Given the description of an element on the screen output the (x, y) to click on. 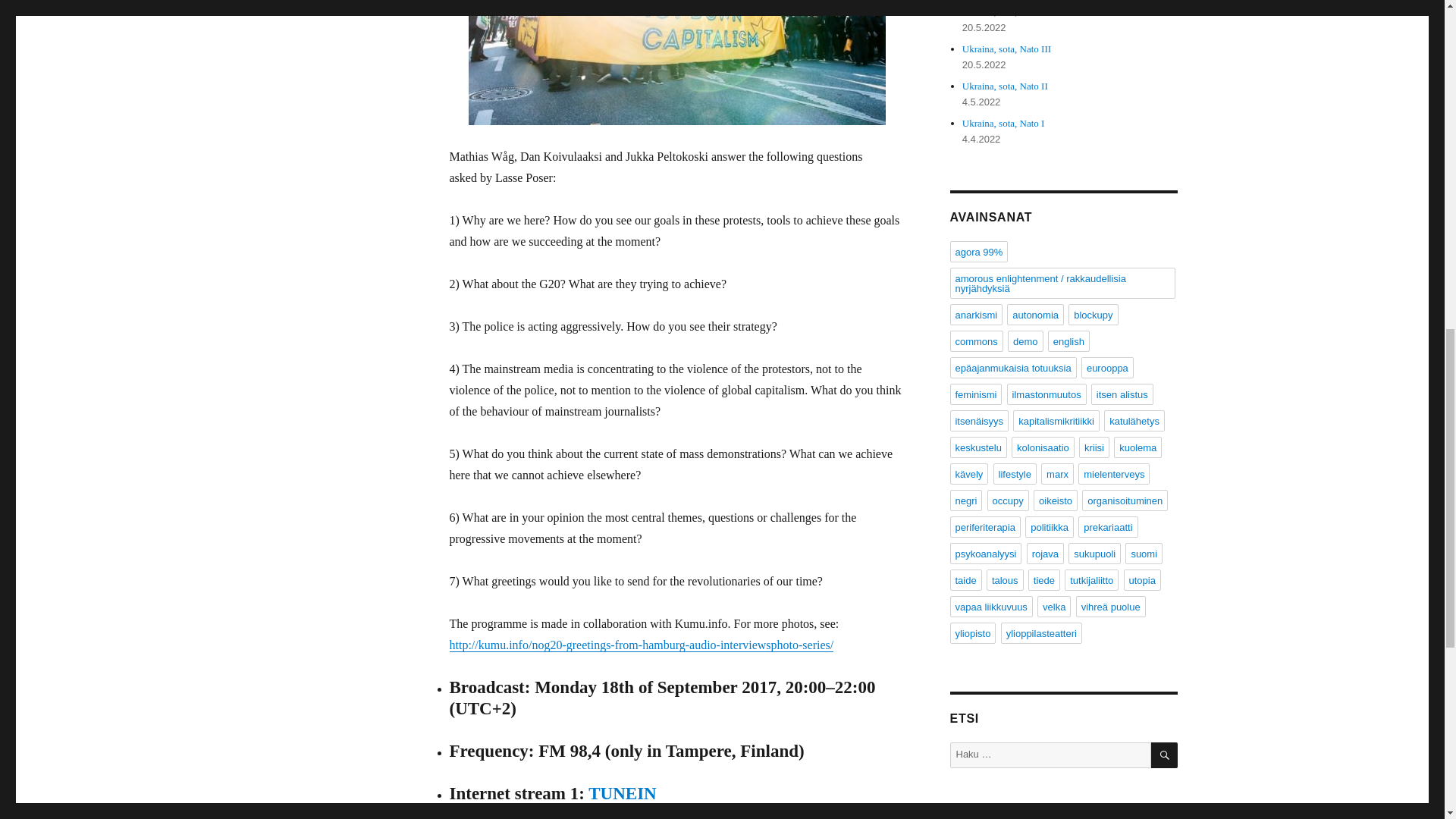
itsen alistus (1121, 394)
blockupy (1093, 314)
eurooppa (1107, 367)
Ukraina, sota, Nato IV (1006, 11)
anarkismi (976, 314)
Ukraina, sota, Nato I (1003, 122)
ilmastonmuutos (1046, 394)
Ukraina, sota, Nato II (1005, 85)
Ukraina, sota, Nato III (1006, 48)
english (1068, 341)
